Given the description of an element on the screen output the (x, y) to click on. 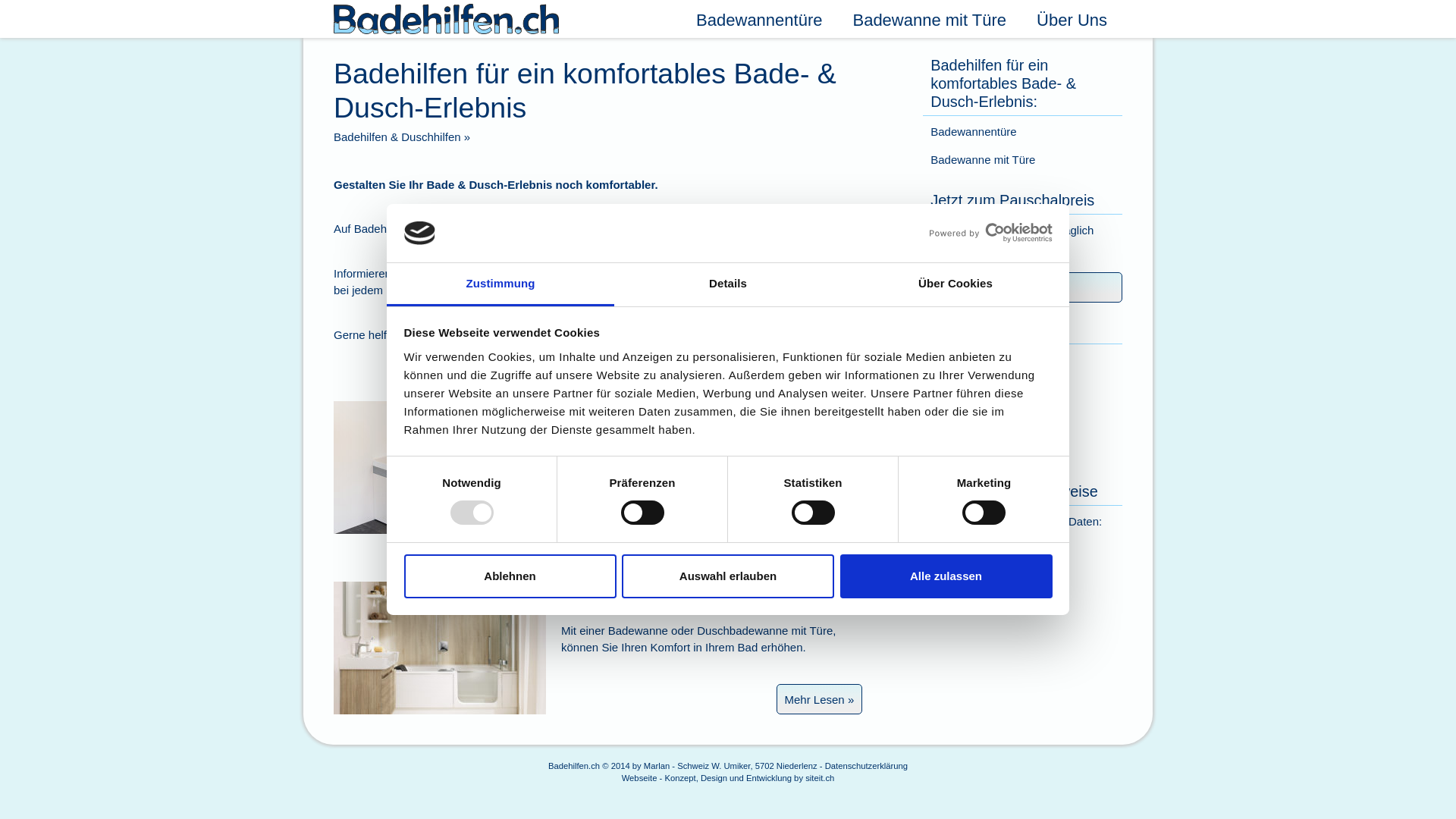
Alle zulassen Element type: text (946, 576)
Webseite - Konzept, Design und Entwicklung by siteit.ch Element type: text (727, 789)
Auswahl erlauben Element type: text (727, 576)
Details Element type: text (727, 284)
Zustimmung Element type: text (500, 284)
Telefon: 062 893 03 71 Element type: text (988, 433)
www.marlan.ch Element type: text (968, 451)
Badehilfen & Duschhilfen Element type: text (397, 136)
Ablehnen Element type: text (509, 576)
